Given the description of an element on the screen output the (x, y) to click on. 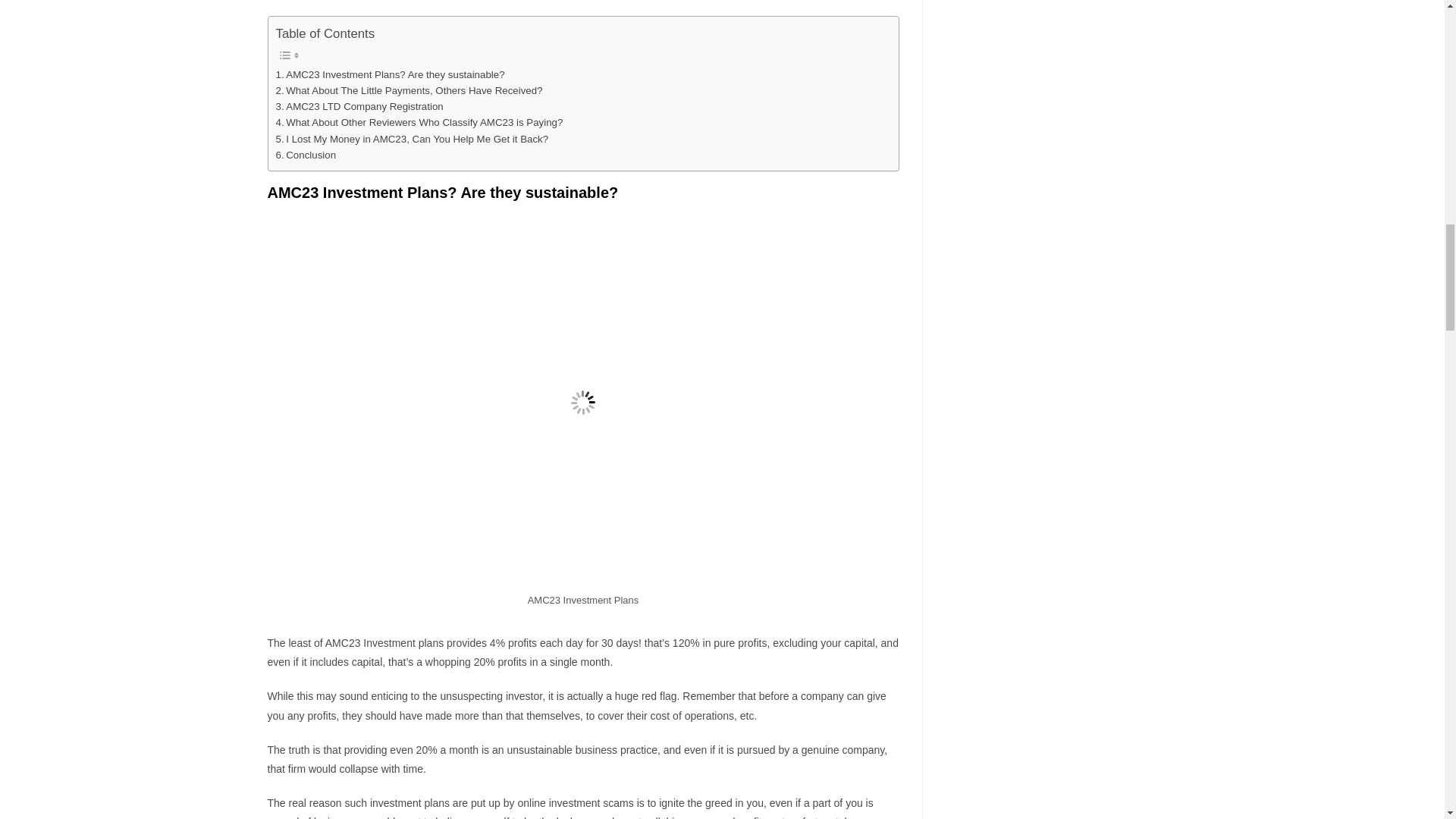
Conclusion (306, 154)
What About Other Reviewers Who Classify AMC23 is Paying? (419, 122)
AMC23 LTD Company Registration (360, 106)
What About The Little Payments, Others Have Received? (409, 90)
What About The Little Payments, Others Have Received? (409, 90)
AMC23 Investment Plans? Are they sustainable? (390, 74)
AMC23 LTD Company Registration (360, 106)
I Lost My Money in AMC23, Can You Help Me Get it Back? (412, 139)
AMC23 Investment Plans? Are they sustainable? (390, 74)
What About Other Reviewers Who Classify AMC23 is Paying? (419, 122)
